Given the description of an element on the screen output the (x, y) to click on. 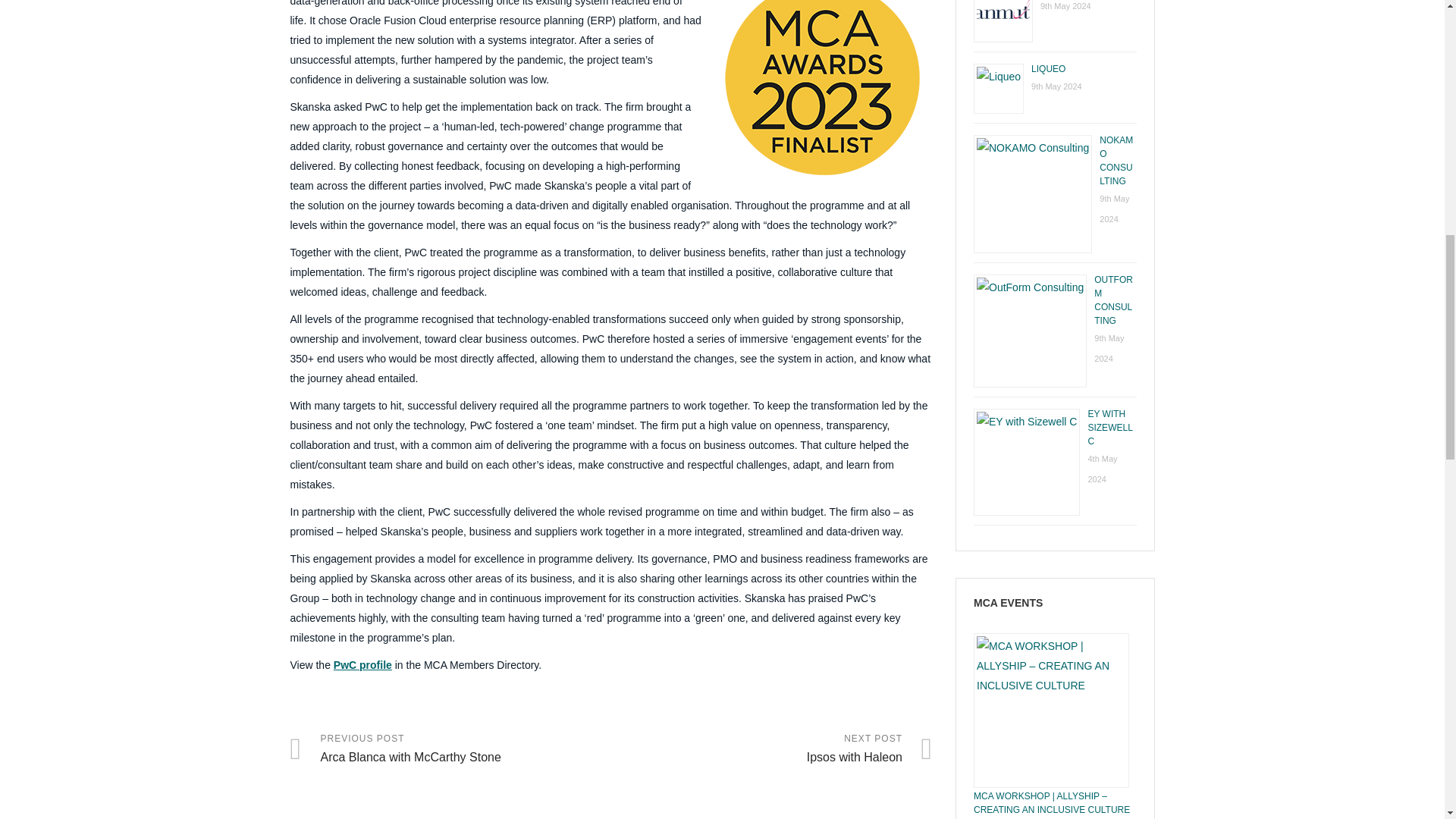
Arca Blanca with McCarthy Stone (450, 749)
Ipsos with Haleon (772, 749)
